Given the description of an element on the screen output the (x, y) to click on. 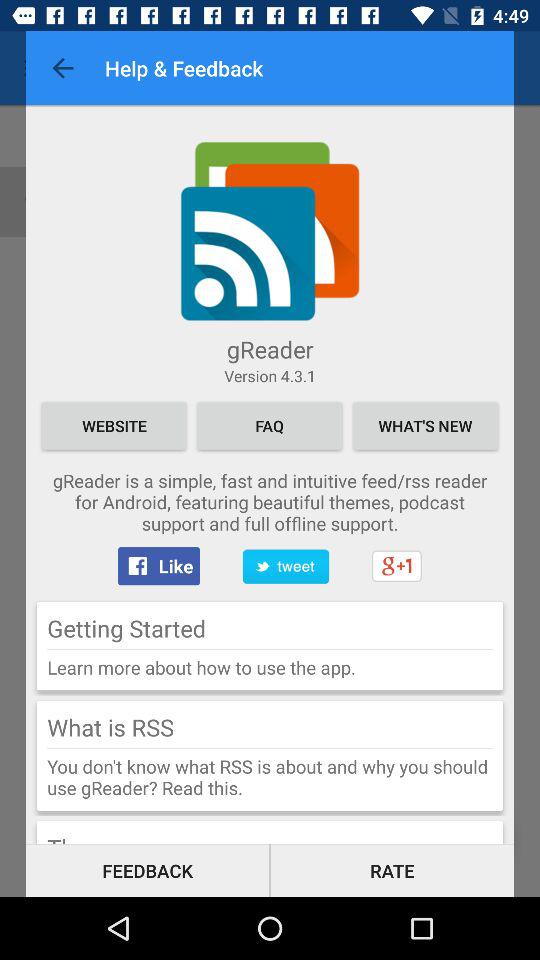
click the item below what is rss item (269, 748)
